Given the description of an element on the screen output the (x, y) to click on. 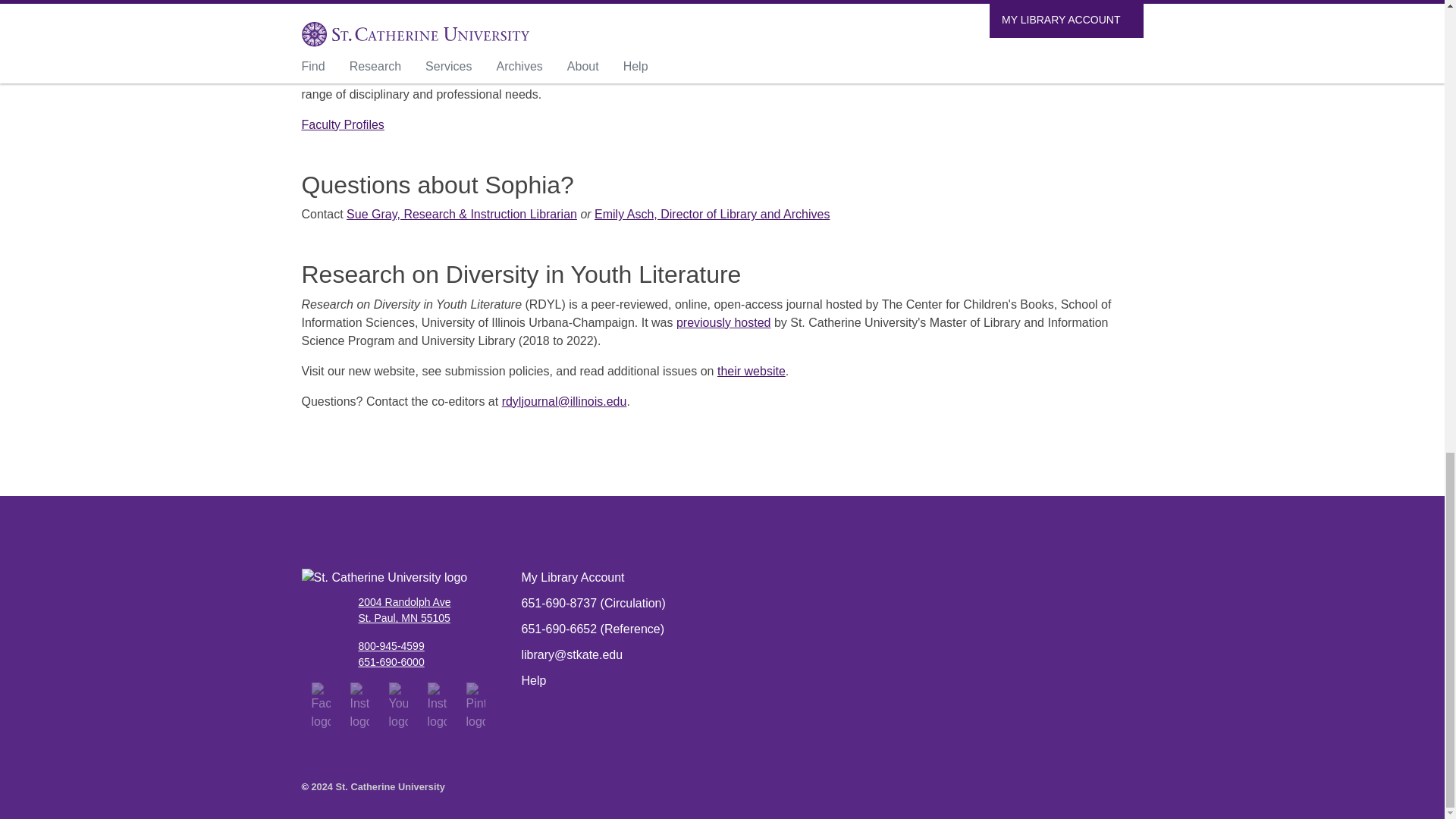
St. Catherine University Pinterest (474, 706)
St. Catherine University Twitter (359, 706)
St. Catherine University Facebook (320, 706)
St. Catherine University YouTube (397, 706)
St. Catherine University Instagram (437, 706)
